Given the description of an element on the screen output the (x, y) to click on. 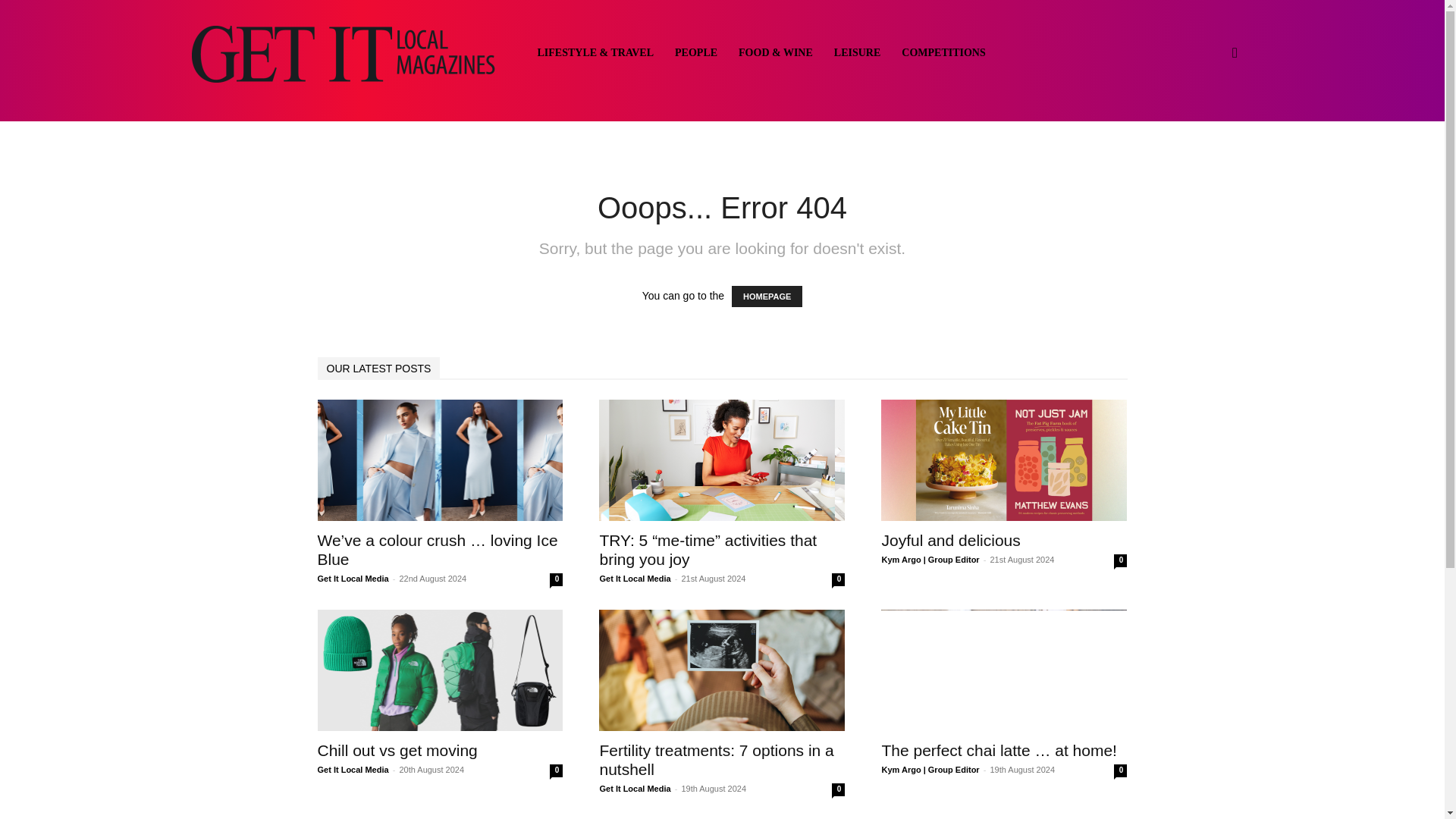
PEOPLE (695, 52)
Fertility treatments: 7 options in a nutshell (721, 670)
Fertility treatments: 7 options in a nutshell (715, 760)
Get it Joburg West (342, 52)
Search (1210, 125)
Chill out vs get moving (397, 750)
Chill out vs get moving (439, 670)
Joyful and delicious (1003, 459)
Joyful and delicious (950, 539)
